Given the description of an element on the screen output the (x, y) to click on. 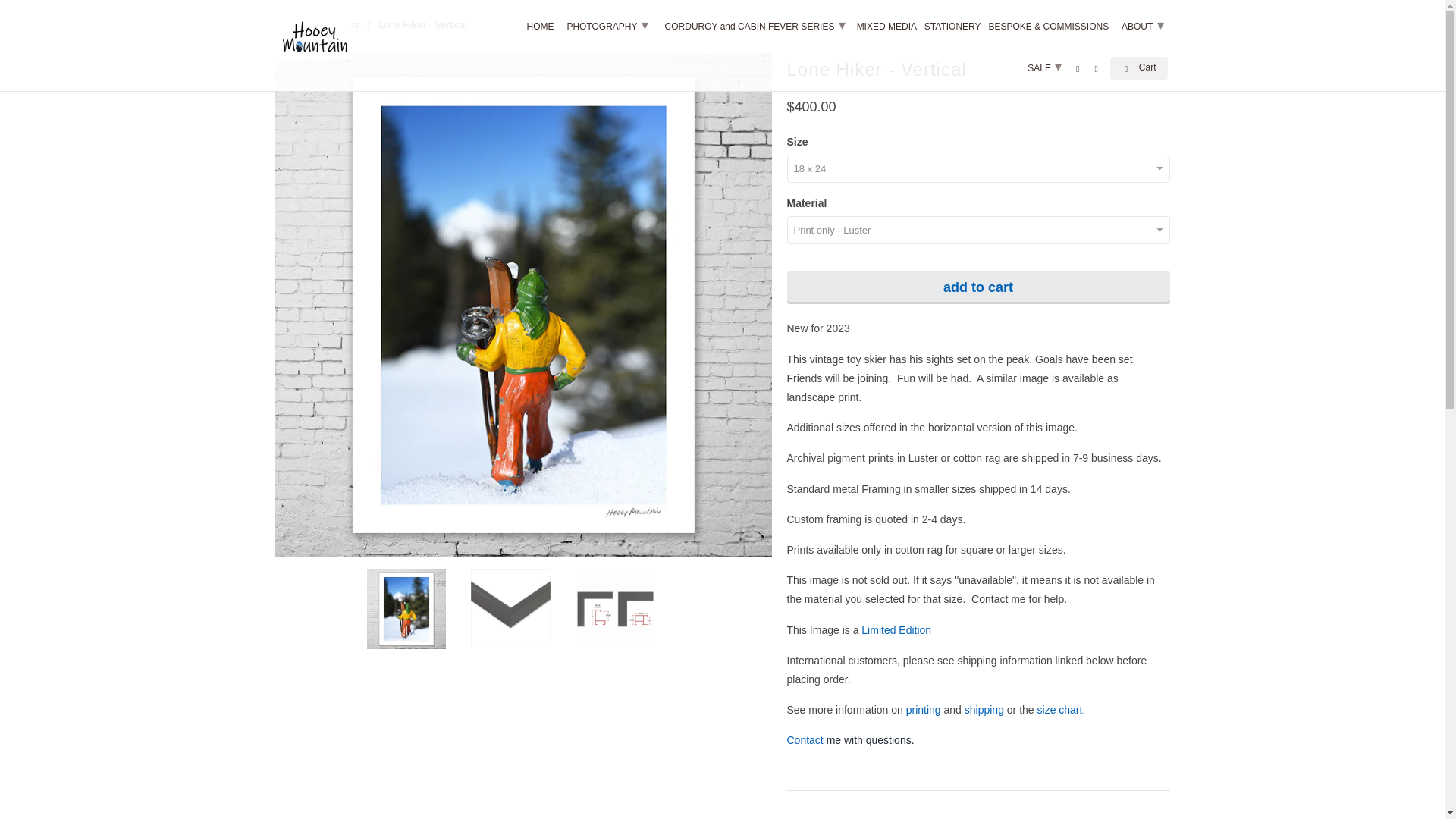
Contact Us (807, 739)
Limited Edition (896, 630)
Printing Info (922, 709)
Hooey Mountain (288, 24)
Products (339, 24)
Size Chart of Hooey MOuntain Images (1059, 709)
Shipping information for Hooey Mountain Photography (983, 709)
